Given the description of an element on the screen output the (x, y) to click on. 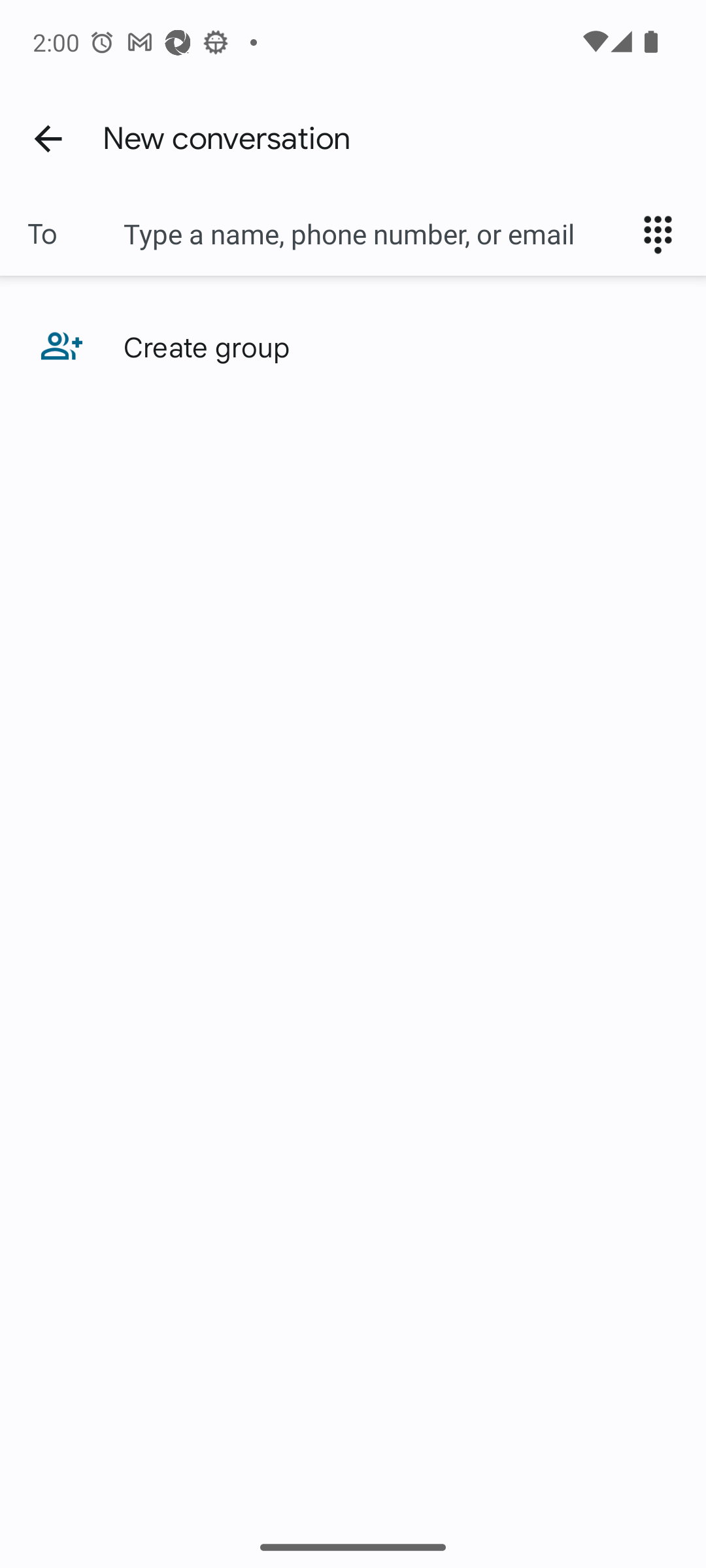
Navigate up (48, 137)
Type a name, phone number, or email (373, 233)
Switch between entering text and numbers (664, 233)
Create group (353, 346)
